Given the description of an element on the screen output the (x, y) to click on. 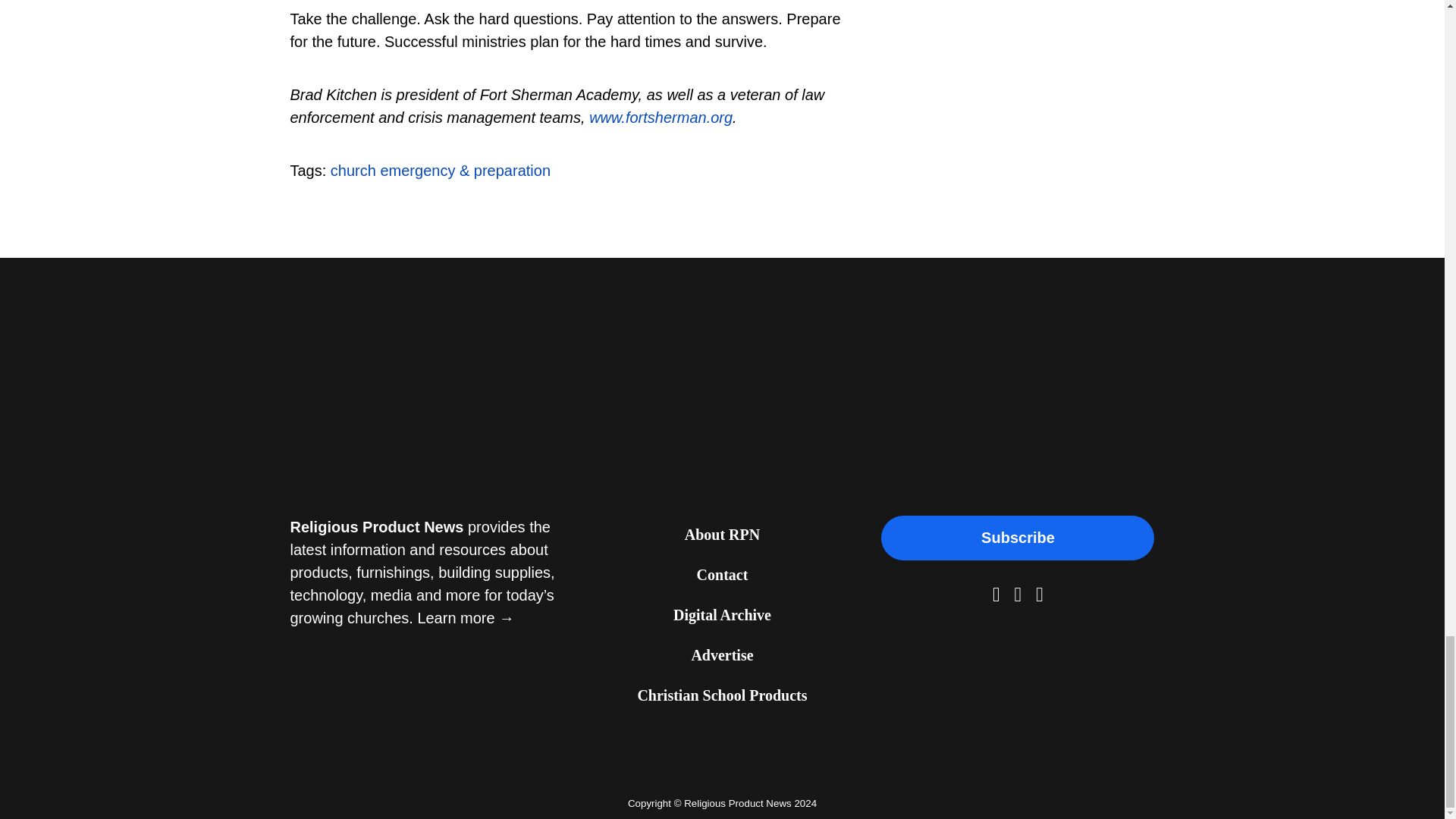
Contact (722, 576)
www.fortsherman.org (660, 117)
Digital Archive (721, 616)
About RPN (722, 535)
